Given the description of an element on the screen output the (x, y) to click on. 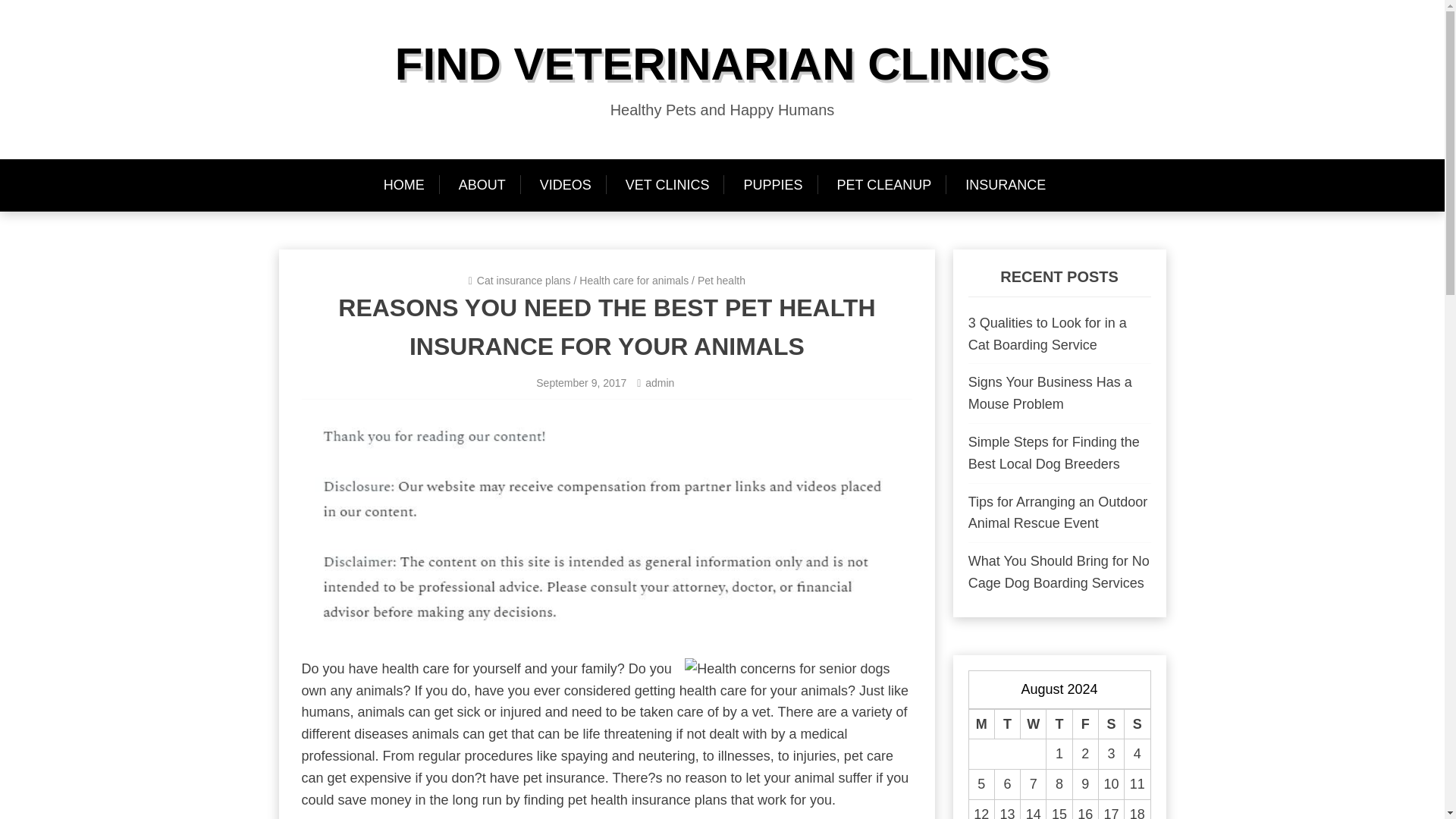
Pet health (721, 280)
Tips for Arranging an Outdoor Animal Rescue Event (1057, 512)
ABOUT (482, 184)
INSURANCE (1005, 184)
FIND VETERINARIAN CLINICS (721, 63)
VET CLINICS (667, 184)
3 Qualities to Look for in a Cat Boarding Service (1047, 333)
Simple Steps for Finding the Best Local Dog Breeders (1054, 452)
Cat insurance plans (523, 280)
PET CLEANUP (884, 184)
Signs Your Business Has a Mouse Problem (1050, 392)
PUPPIES (772, 184)
Health care for animals (633, 280)
HOME (411, 184)
What You Should Bring for No Cage Dog Boarding Services (1059, 571)
